Given the description of an element on the screen output the (x, y) to click on. 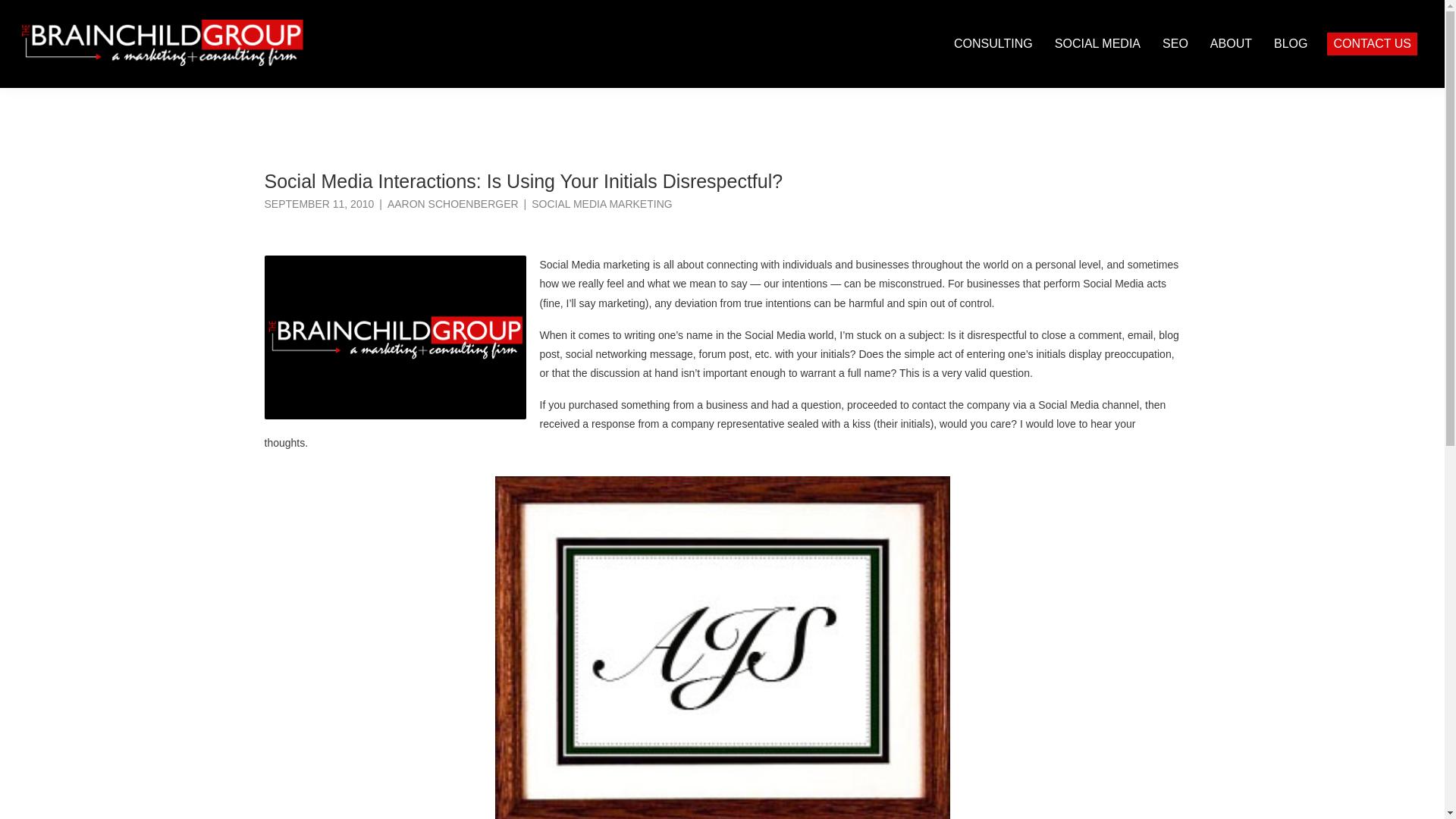
SOCIAL MEDIA MARKETING (601, 203)
CONTACT US (1371, 43)
SEO (1174, 43)
ABOUT (1230, 43)
SOCIAL MEDIA (1097, 43)
BLOG (1290, 43)
CONSULTING (993, 43)
The Brainchild Group (198, 26)
